Given the description of an element on the screen output the (x, y) to click on. 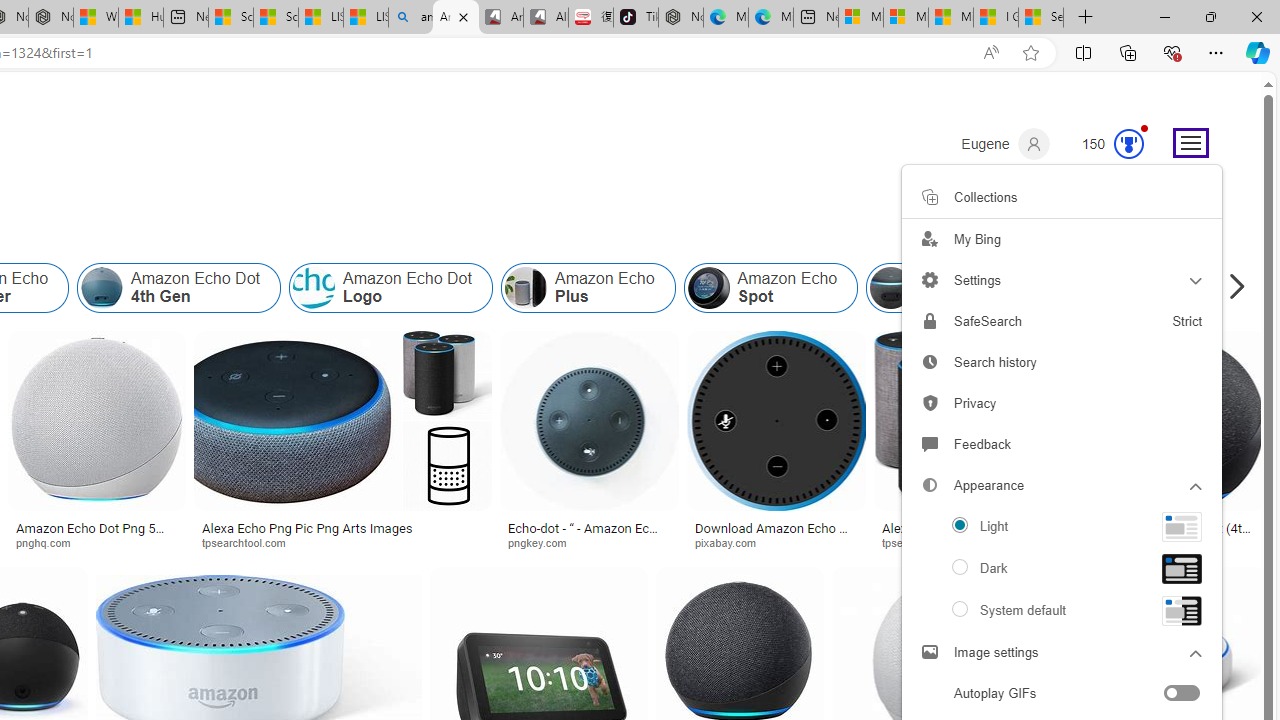
Autoplay GIFs (1061, 695)
Amazon Echo Dot PNG - Search Images (455, 17)
Light (1062, 526)
Amazon Echo Spot (770, 287)
System default (1062, 610)
Amazon Echo Dot 3 (891, 287)
pixabay.com (732, 541)
